Given the description of an element on the screen output the (x, y) to click on. 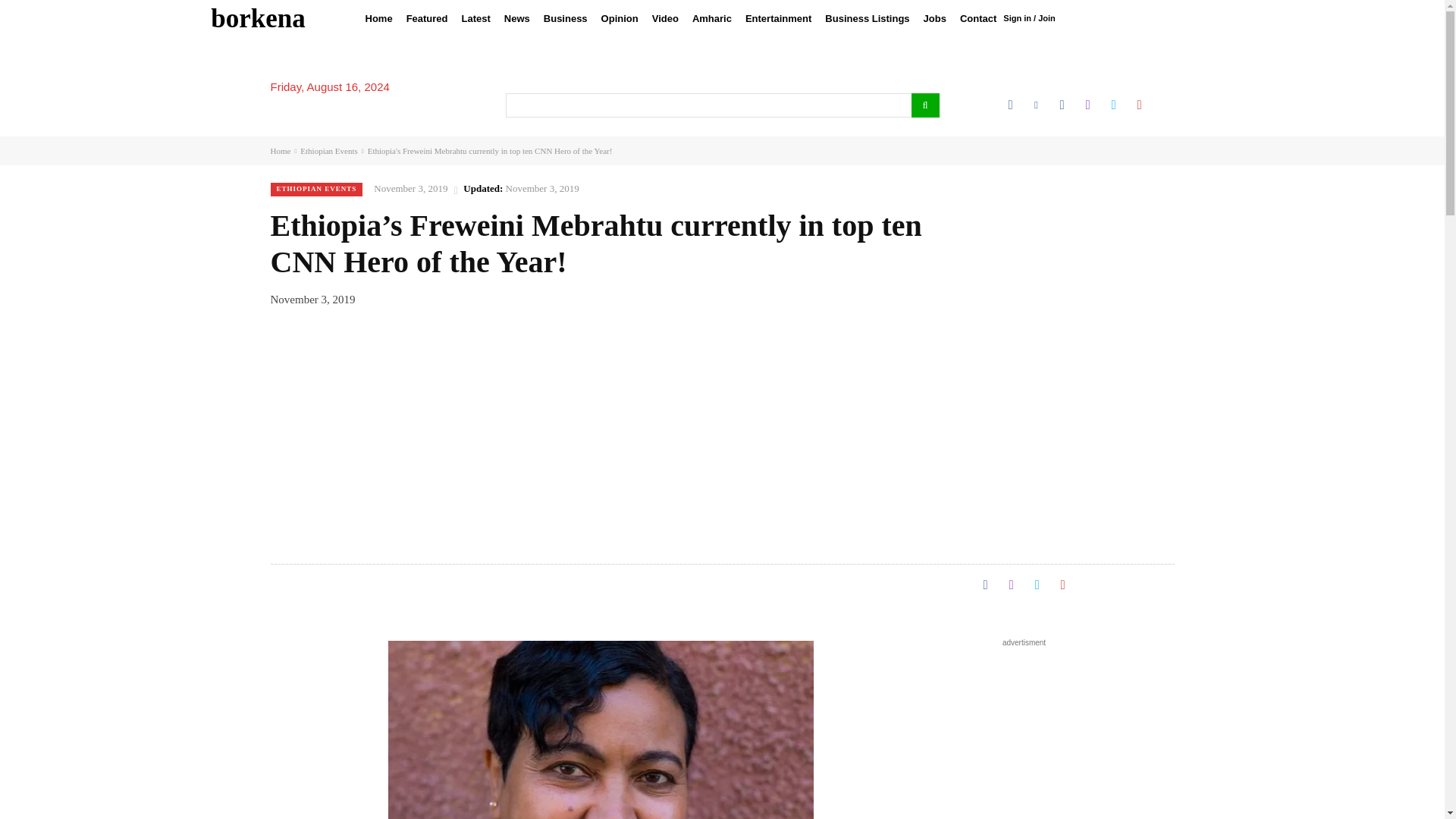
Video (665, 18)
Business Listings (866, 18)
Business (565, 18)
Home (378, 18)
Jobs (935, 18)
Featured (426, 18)
borkena (257, 18)
Entertainment (778, 18)
Ethiopian News and Opinion  (257, 18)
Opinion (619, 18)
